Given the description of an element on the screen output the (x, y) to click on. 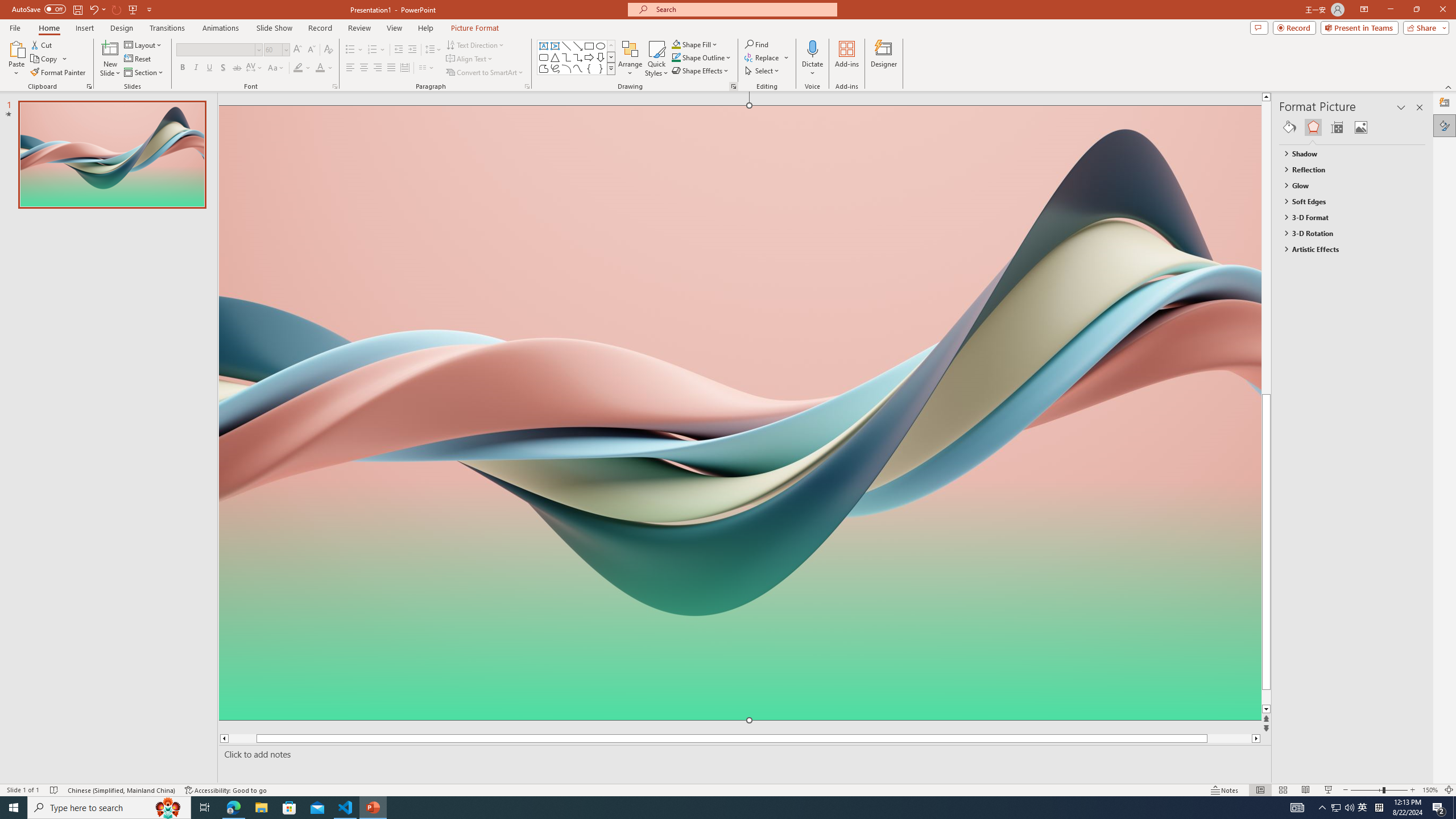
3-D Rotation (1347, 232)
Effects (1313, 126)
